Given the description of an element on the screen output the (x, y) to click on. 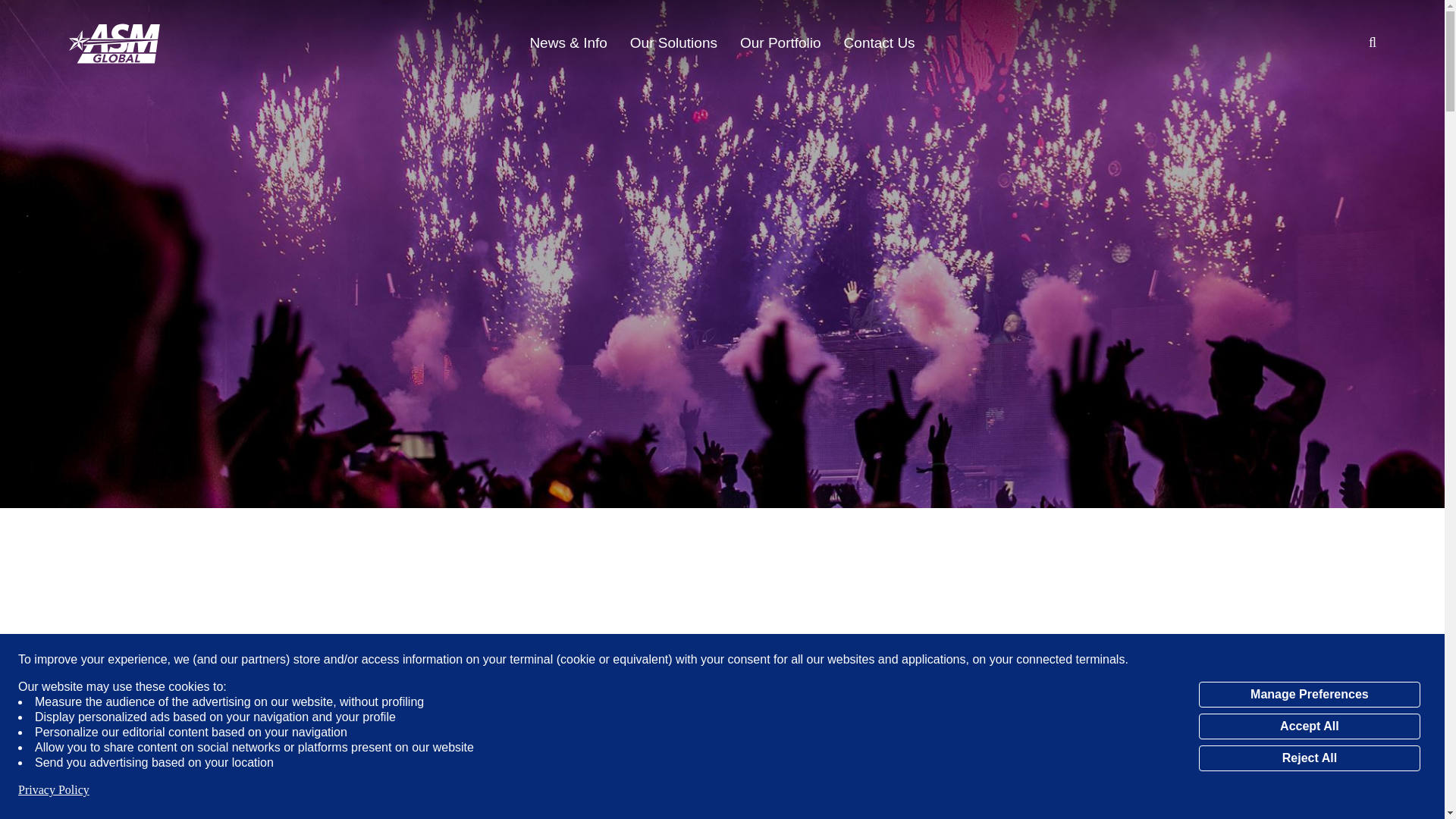
Privacy Policy (52, 789)
Manage Preferences (1309, 694)
Our Solutions (673, 43)
Reject All (1309, 758)
Accept All (1309, 726)
Our Portfolio (780, 43)
